Given the description of an element on the screen output the (x, y) to click on. 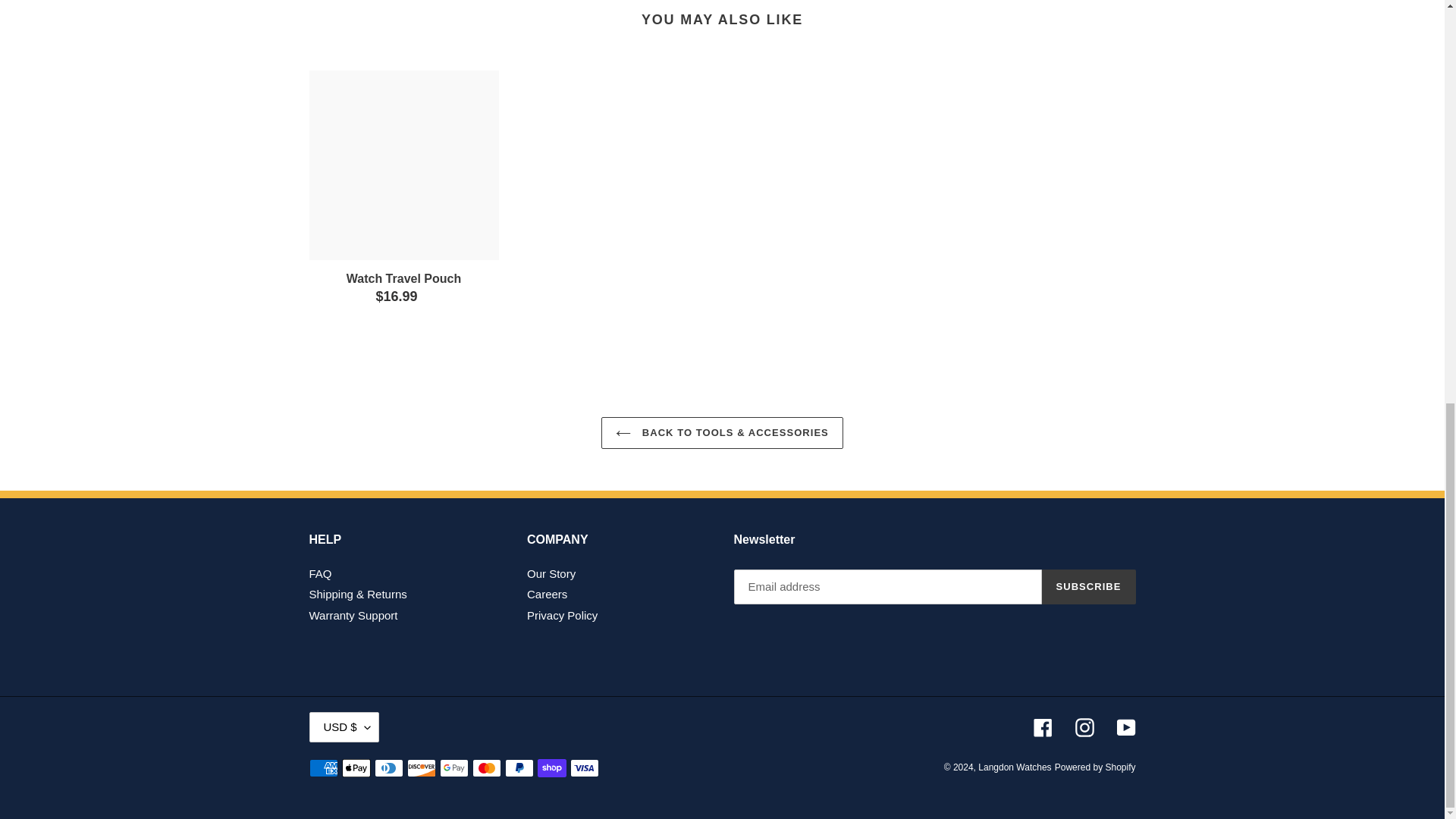
FAQ (319, 573)
Our Story (551, 573)
Privacy Policy (561, 615)
Warranty Support (352, 615)
Careers (547, 594)
SUBSCRIBE (1088, 586)
